Given the description of an element on the screen output the (x, y) to click on. 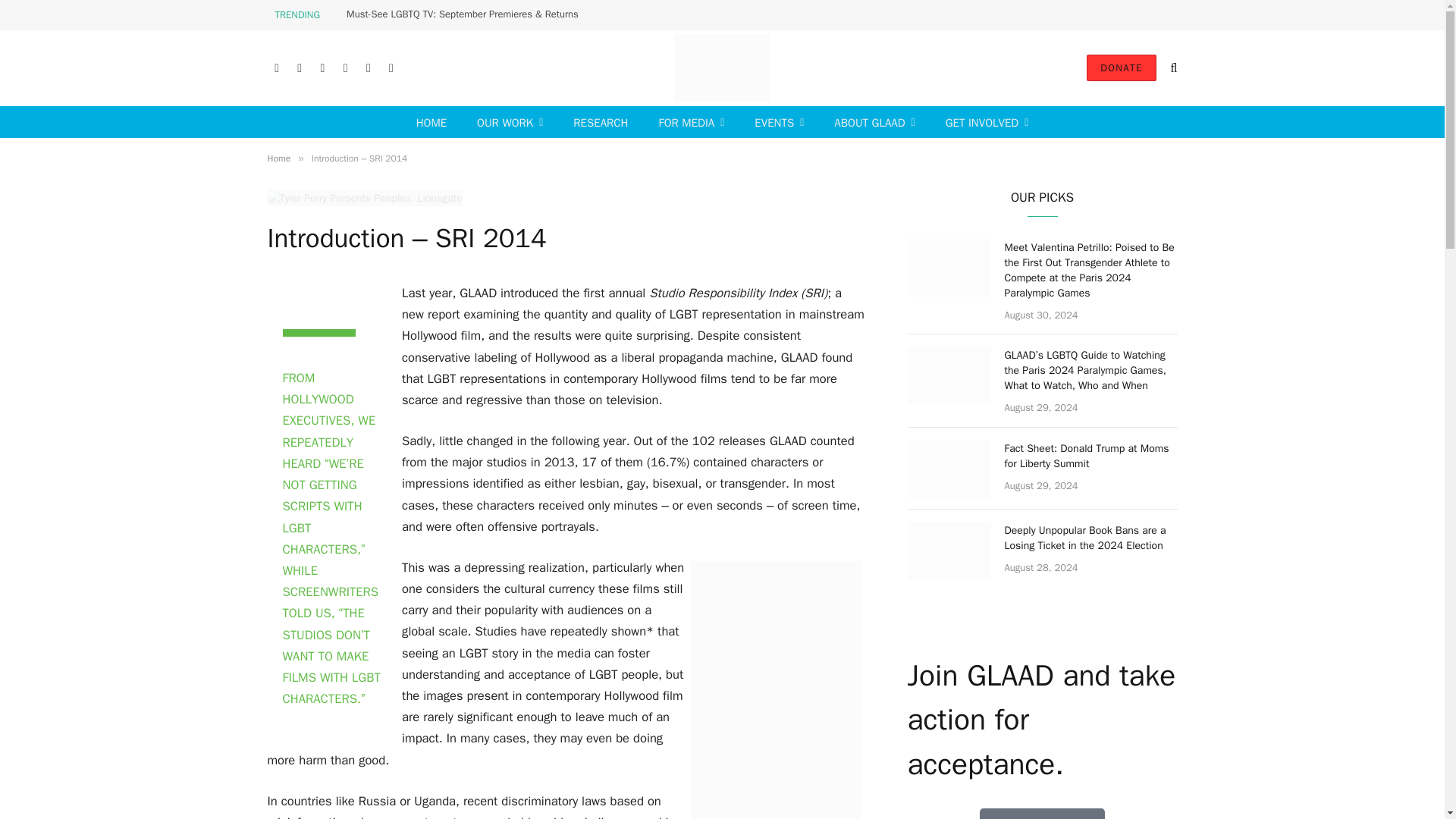
DONATE (1121, 67)
HOME (431, 122)
OUR WORK (509, 122)
GLAAD (721, 68)
